Given the description of an element on the screen output the (x, y) to click on. 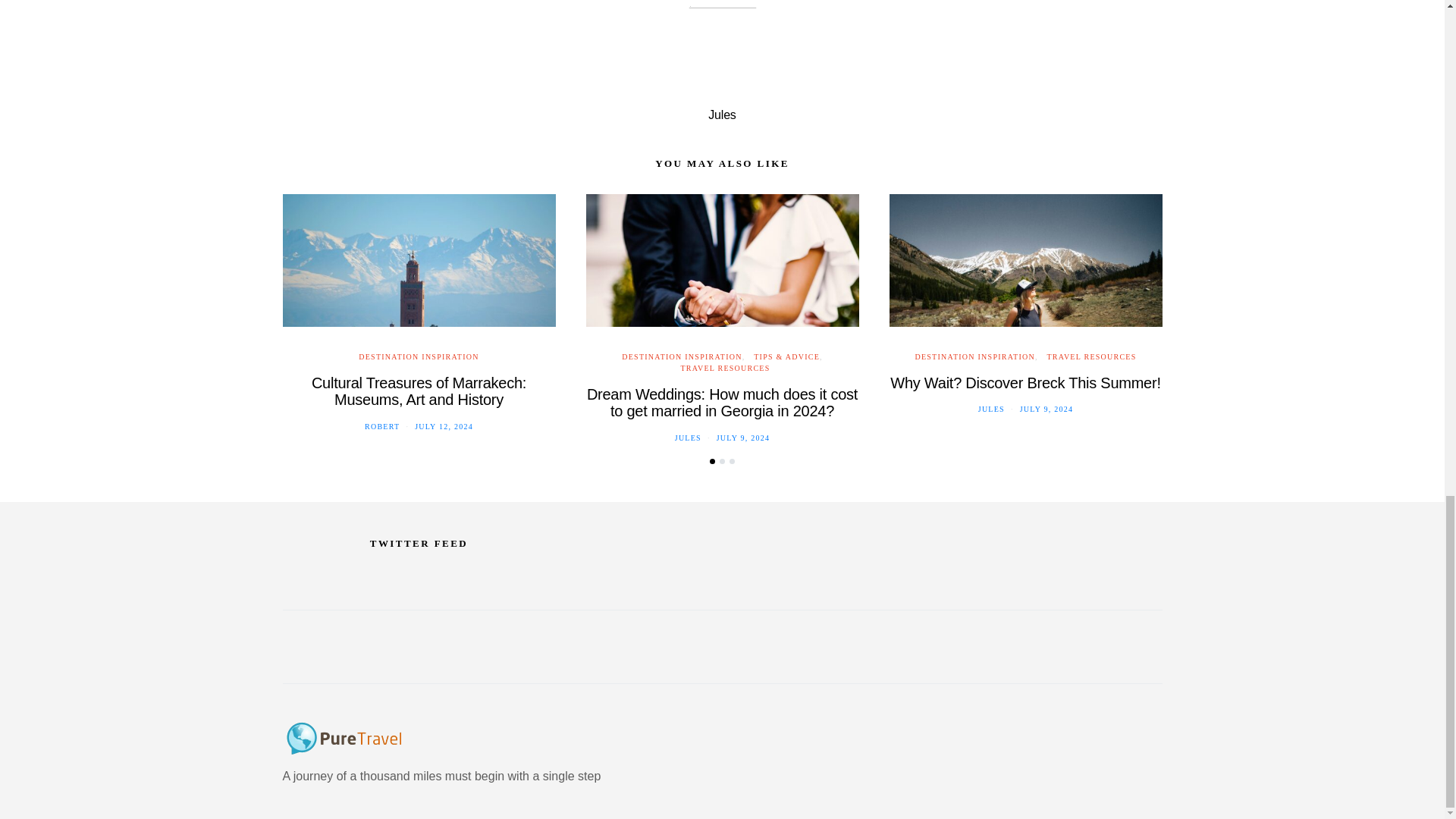
View all posts by Jules (991, 408)
View all posts by Jules (688, 438)
View all posts by Robert (381, 426)
